Given the description of an element on the screen output the (x, y) to click on. 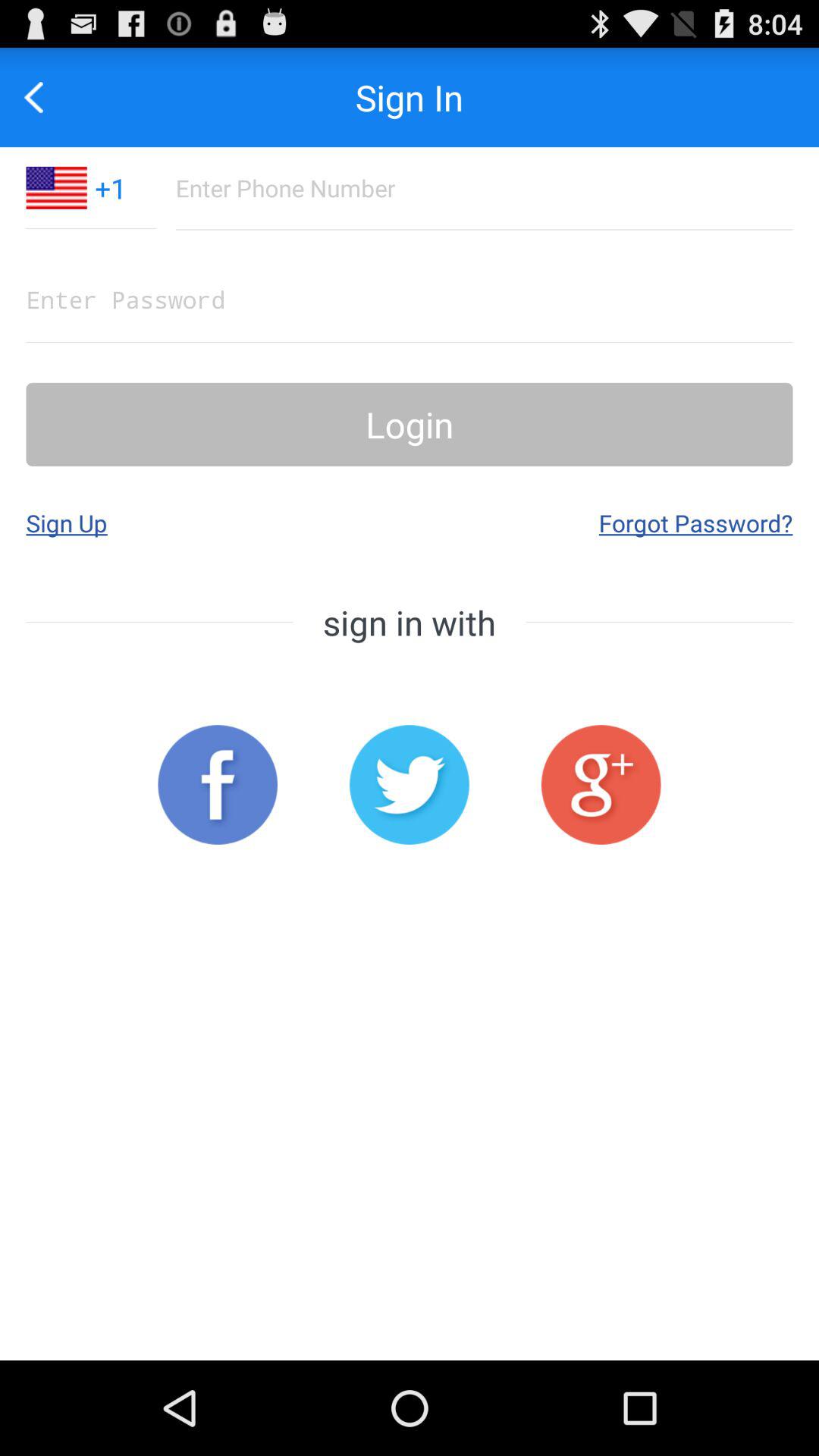
turn on the item next to +1 item (41, 97)
